Given the description of an element on the screen output the (x, y) to click on. 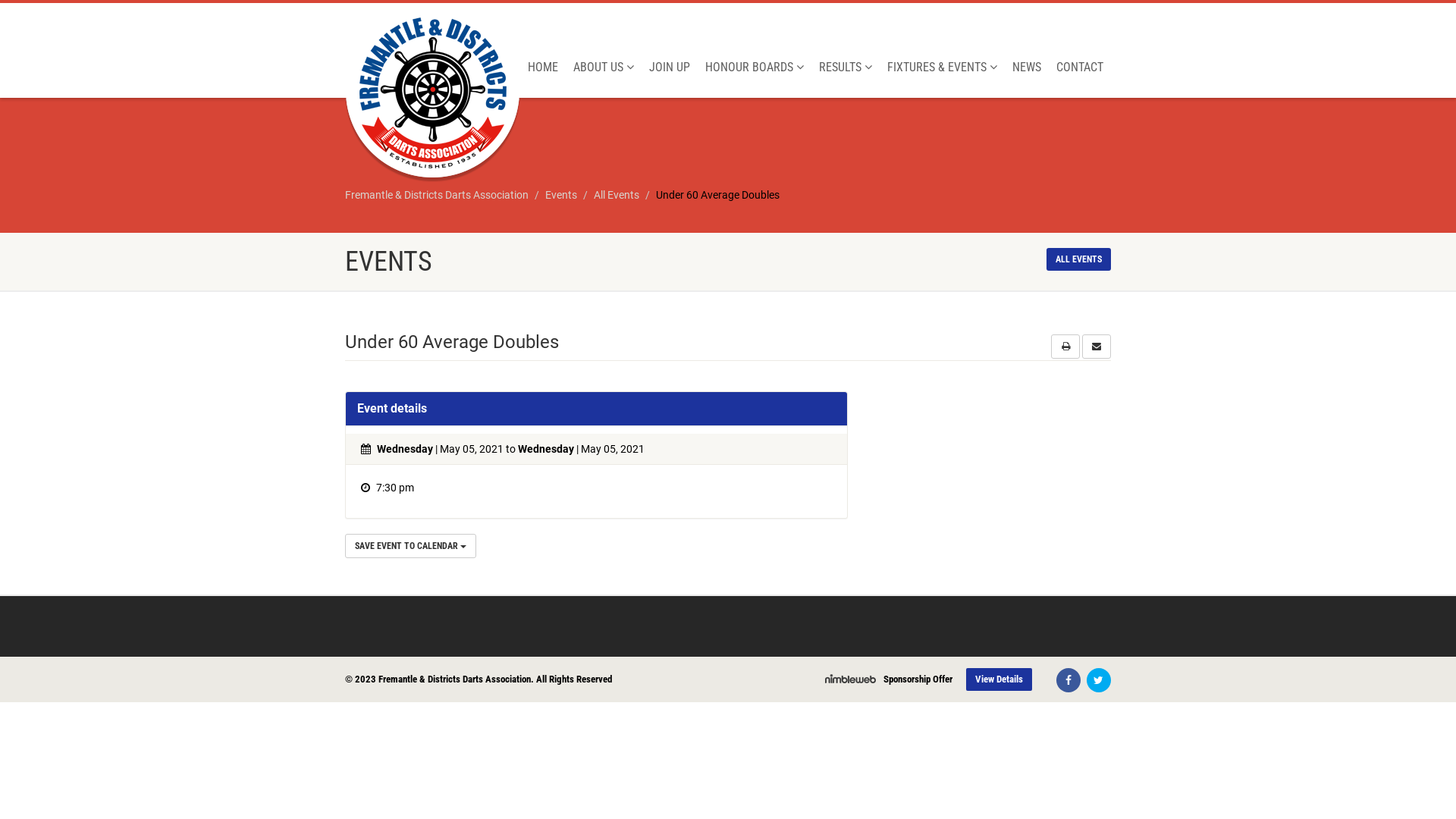
SAVE EVENT TO CALENDAR Element type: text (410, 545)
Fremantle & Districts Darts Association Element type: text (436, 194)
RESULTS Element type: text (845, 66)
View Details Element type: text (999, 679)
FIXTURES & EVENTS Element type: text (942, 66)
CONTACT Element type: text (1079, 66)
ALL EVENTS Element type: text (1078, 258)
NEWS Element type: text (1026, 66)
Events Element type: text (561, 194)
JOIN UP Element type: text (669, 66)
ABOUT US Element type: text (603, 66)
HONOUR BOARDS Element type: text (754, 66)
HOME Element type: text (542, 66)
All Events Element type: text (616, 194)
Logo Element type: hover (432, 92)
